Given the description of an element on the screen output the (x, y) to click on. 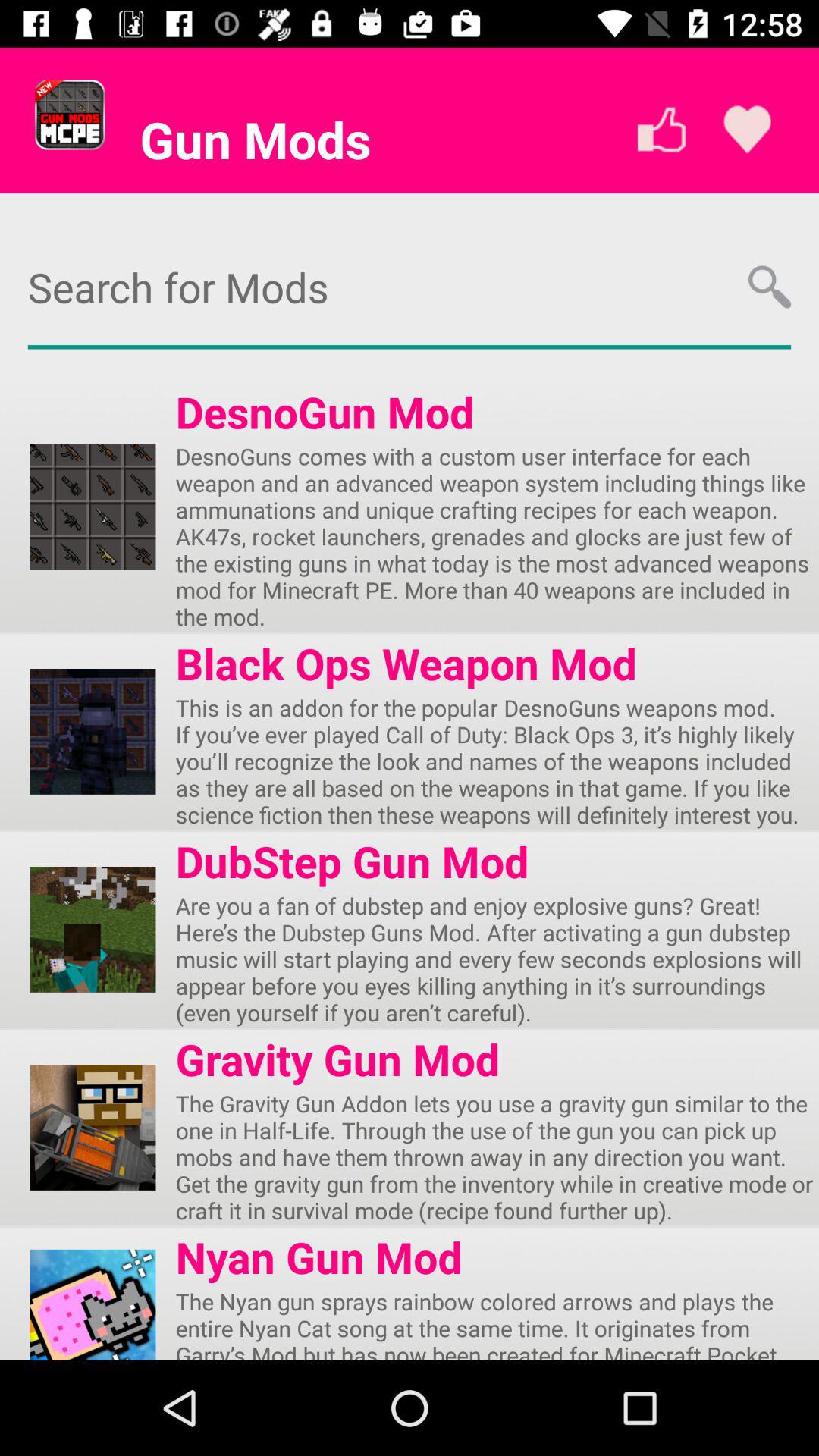
flip until this is an (497, 760)
